Given the description of an element on the screen output the (x, y) to click on. 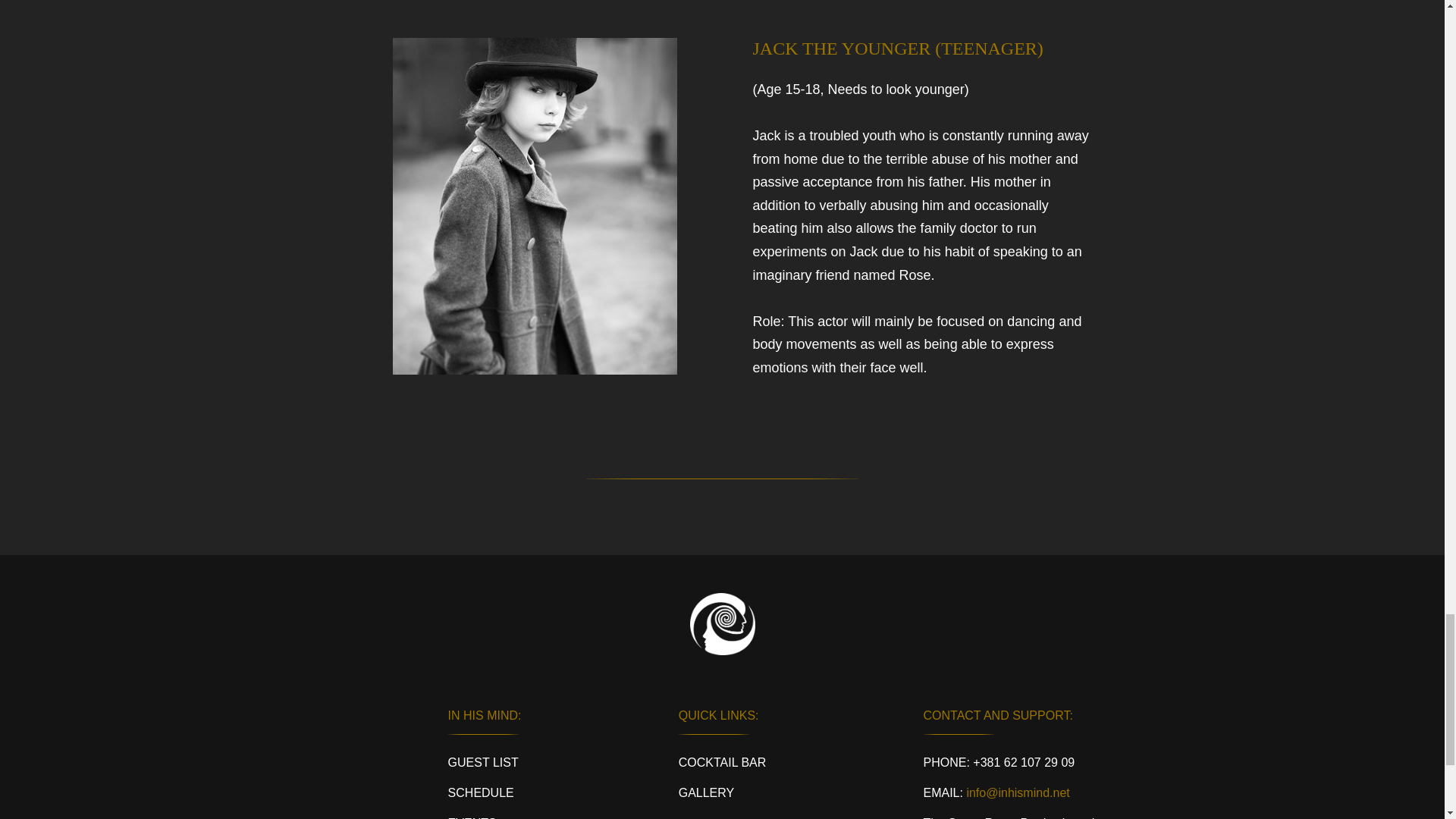
SCHEDULE (480, 792)
GUEST LIST (483, 762)
EVENTS (472, 817)
GALLERY (706, 792)
COCKTAIL BAR (722, 762)
